Given the description of an element on the screen output the (x, y) to click on. 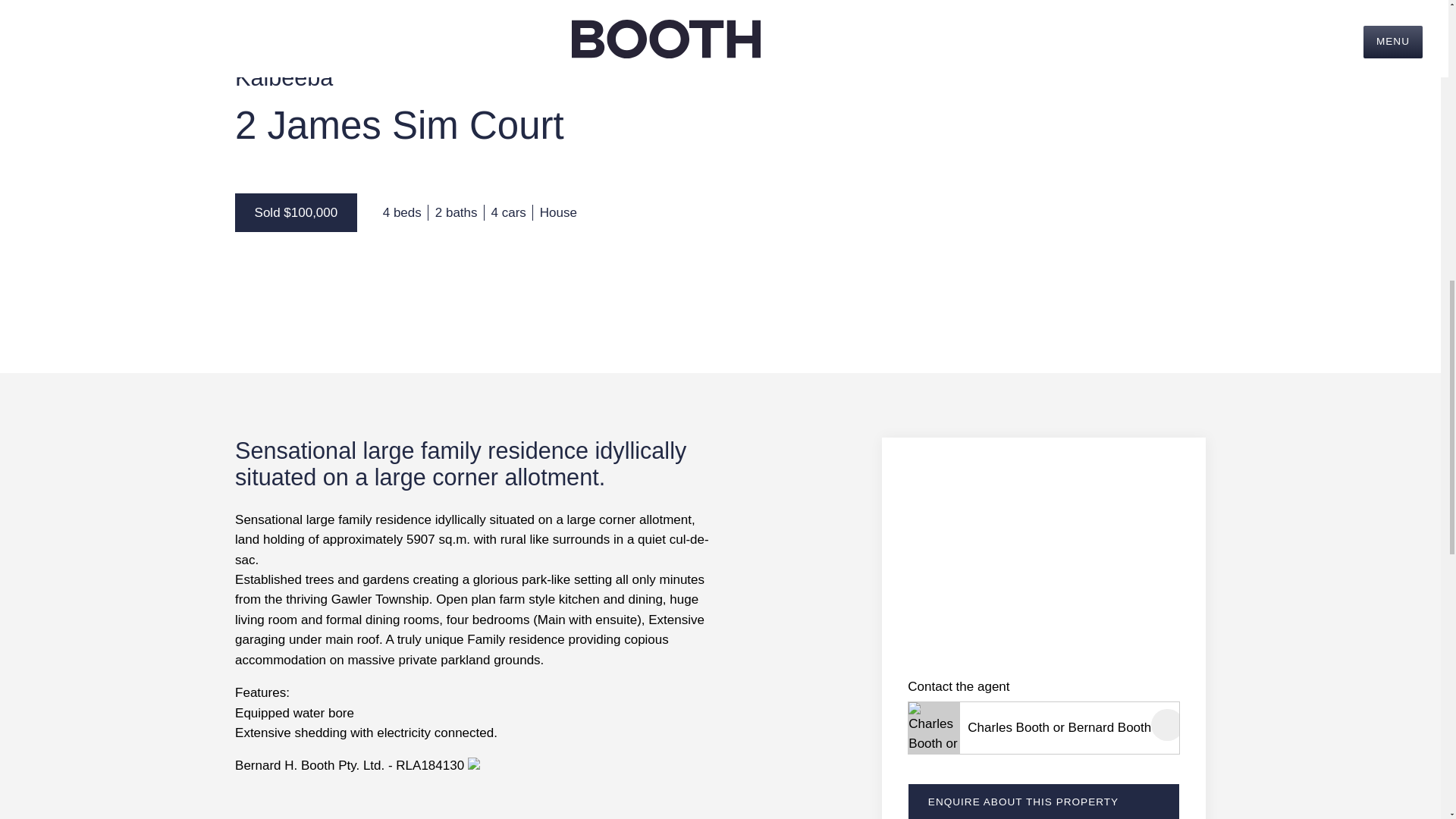
ENQUIRE ABOUT THIS PROPERTY (1043, 800)
Charles Booth or Bernard Booth (1059, 727)
